Given the description of an element on the screen output the (x, y) to click on. 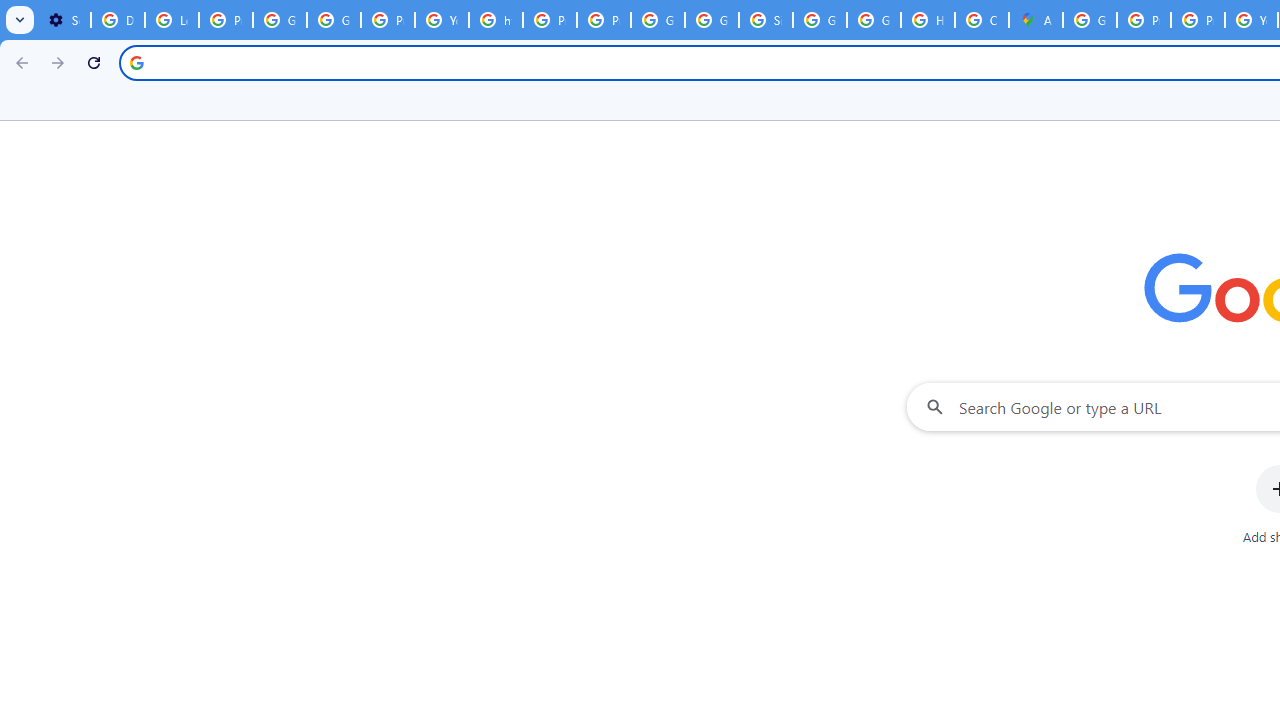
Privacy Help Center - Policies Help (550, 20)
YouTube (441, 20)
Google Account Help (280, 20)
Delete photos & videos - Computer - Google Photos Help (117, 20)
Privacy Help Center - Policies Help (1197, 20)
Privacy Help Center - Policies Help (1144, 20)
